Given the description of an element on the screen output the (x, y) to click on. 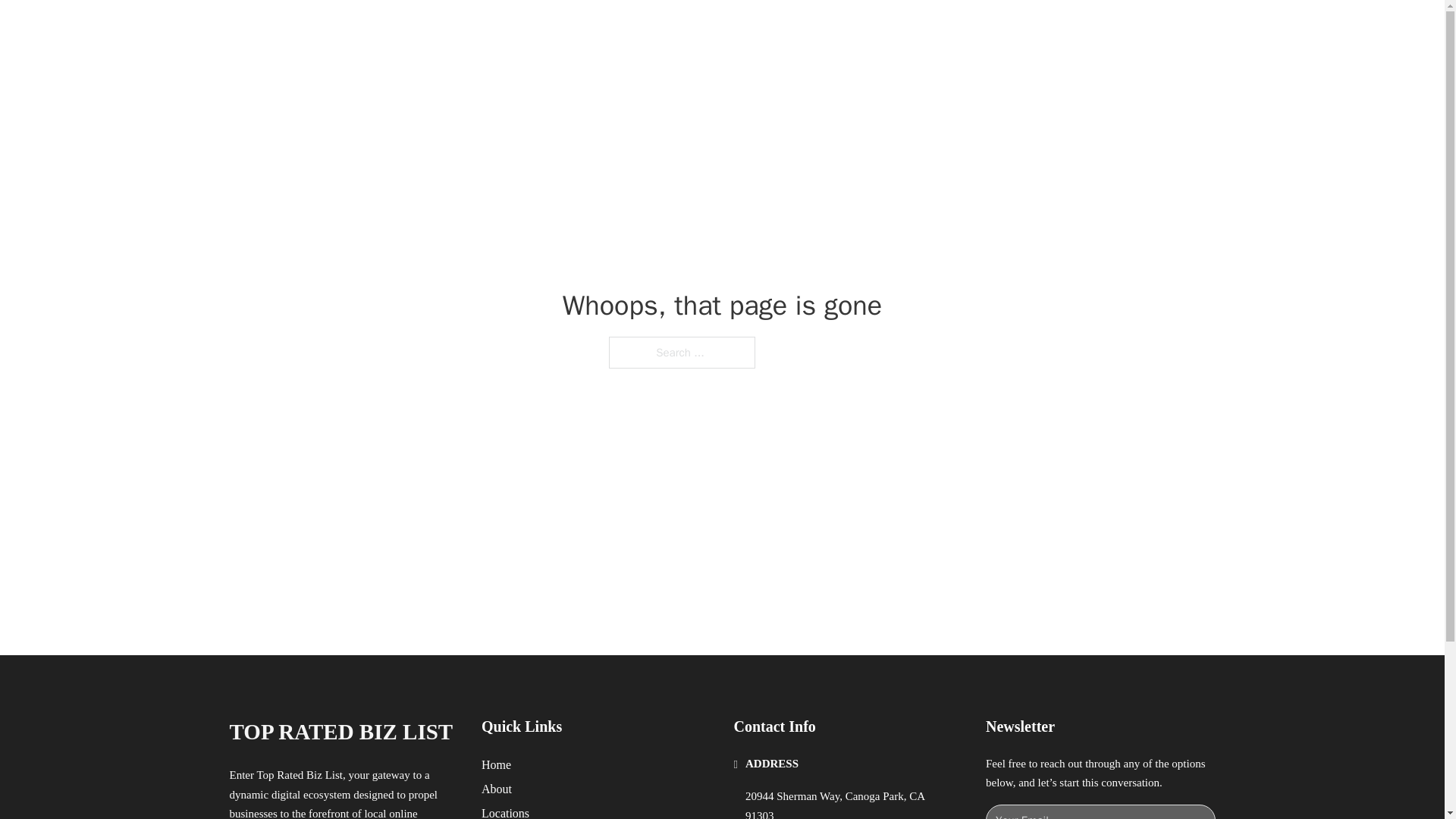
Home (496, 764)
TOP RATED BIZ LIST (410, 28)
LOCATIONS (990, 29)
HOME (919, 29)
About (496, 788)
TOP RATED BIZ LIST (340, 732)
Locations (505, 811)
